Given the description of an element on the screen output the (x, y) to click on. 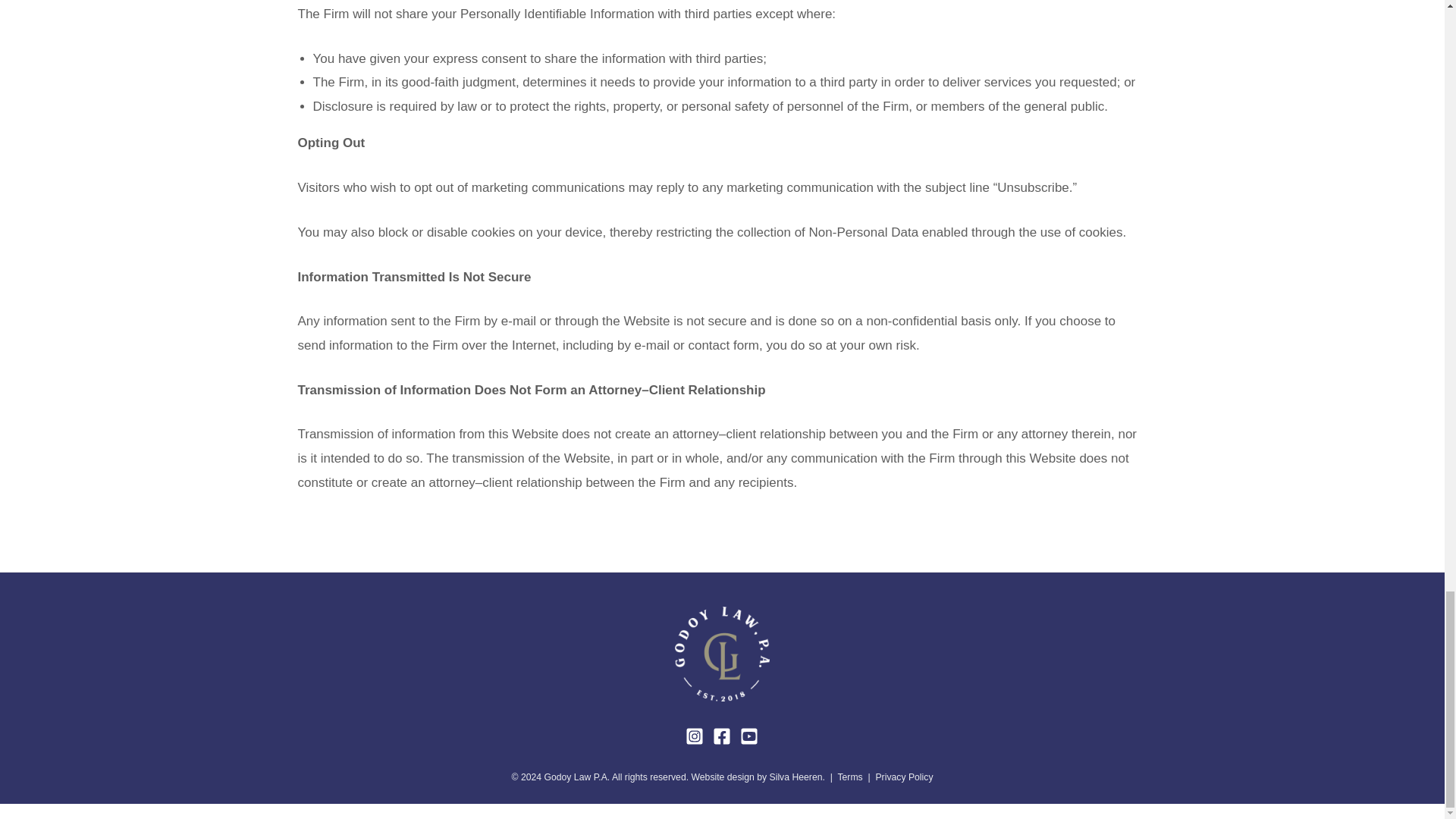
Terms (849, 777)
Silva Heeren (796, 777)
Privacy Policy (904, 777)
Website design (722, 777)
